Given the description of an element on the screen output the (x, y) to click on. 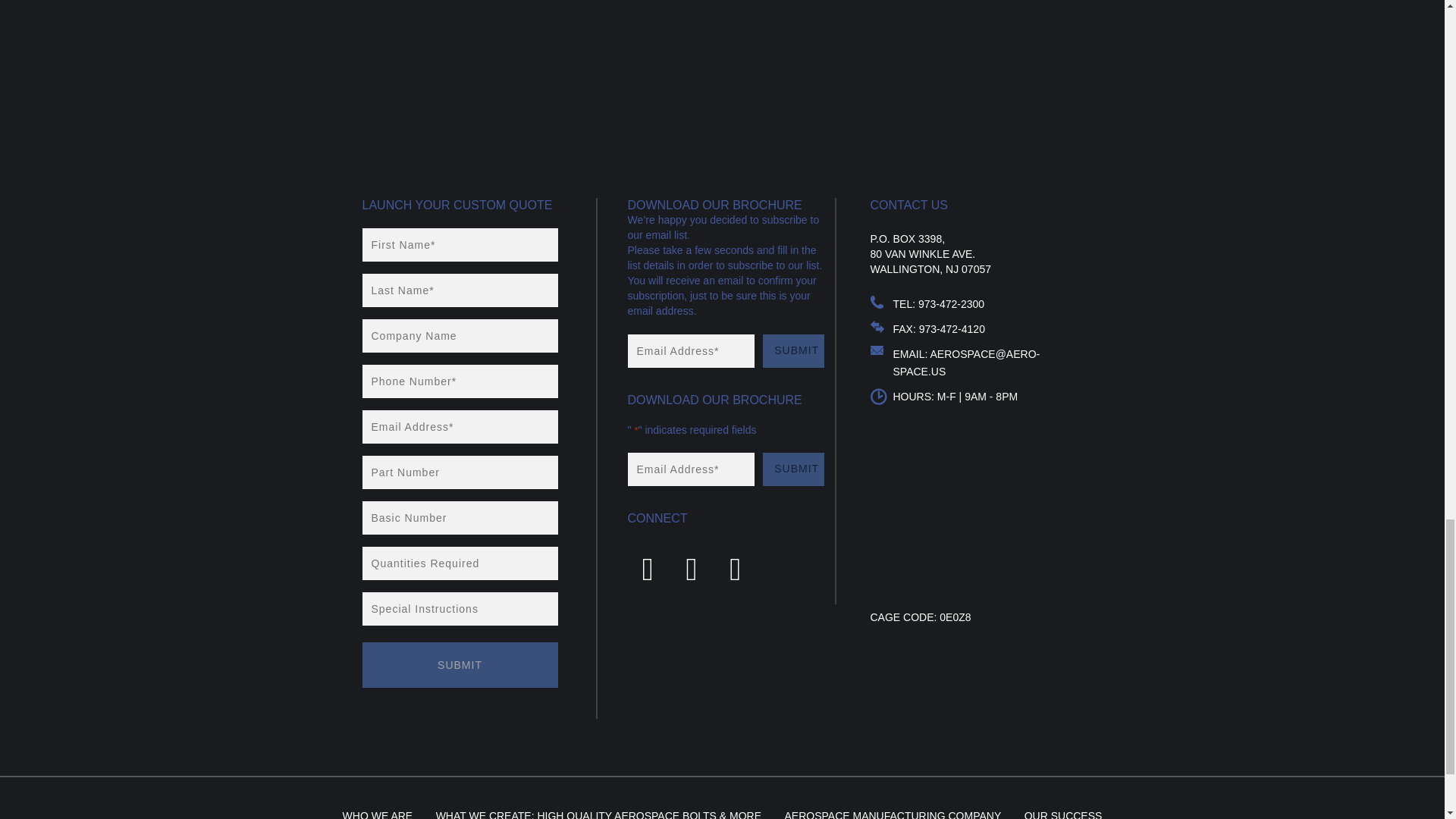
Submit (459, 664)
Submit (793, 469)
Aerospace (418, 90)
Submit (793, 350)
Back to Top (1254, 90)
